Given the description of an element on the screen output the (x, y) to click on. 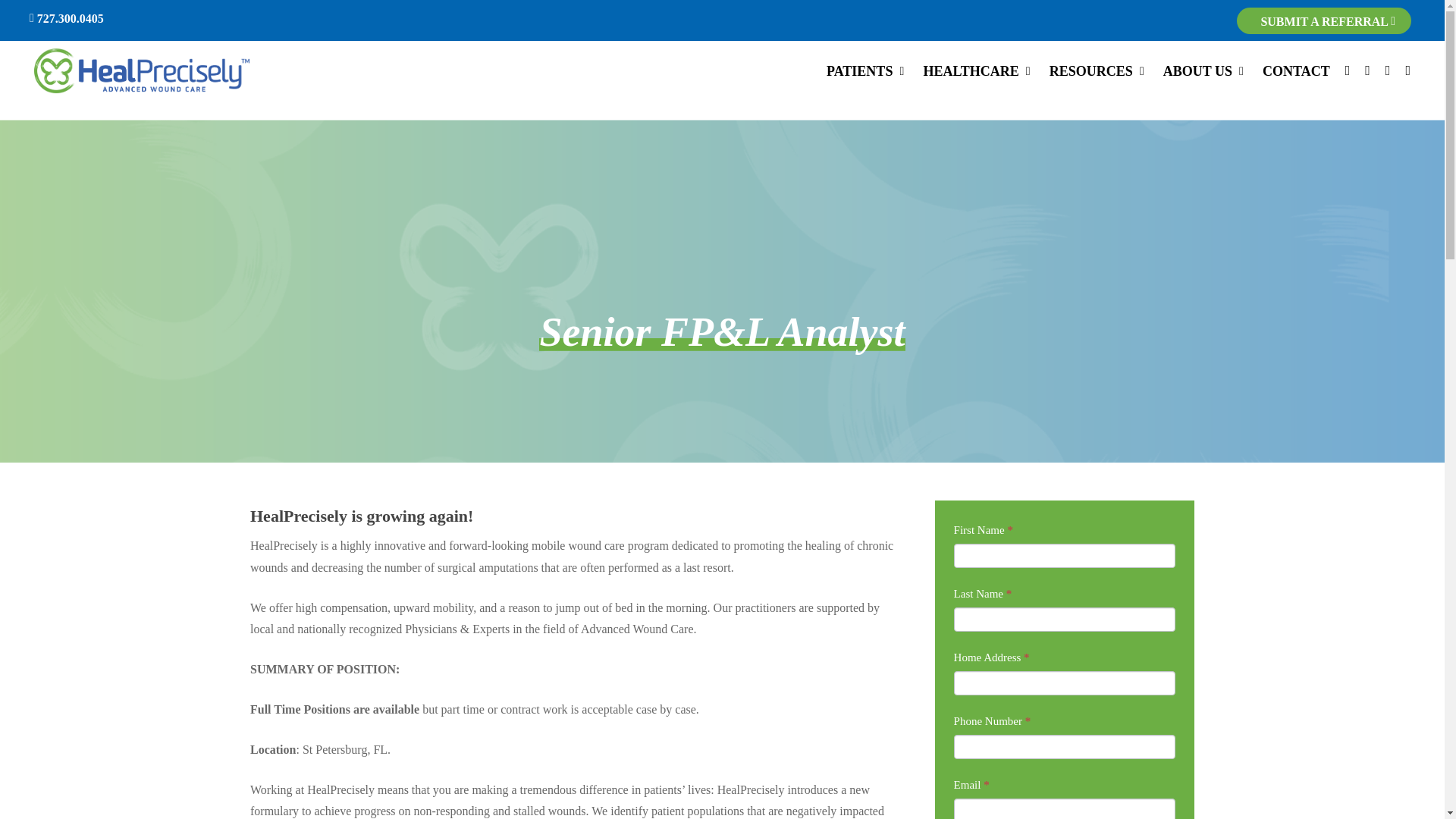
SUBMIT A REFERRAL (1327, 21)
ABOUT US (1205, 70)
CONTACT (1296, 70)
727.300.0405 (66, 19)
PATIENTS (867, 70)
HEALTHCARE (978, 70)
RESOURCES (1098, 70)
